Given the description of an element on the screen output the (x, y) to click on. 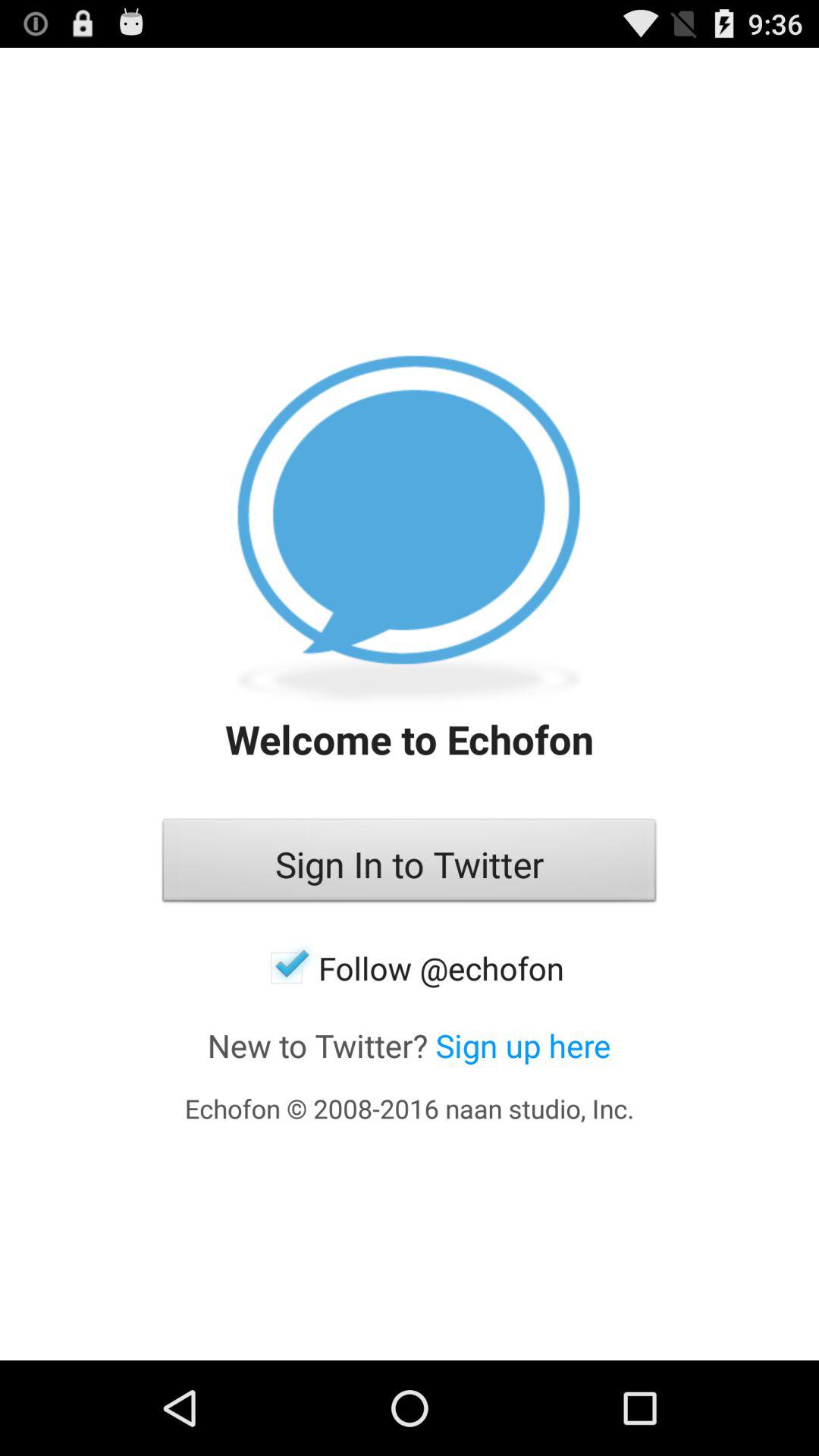
flip until the follow @echofon checkbox (409, 967)
